Given the description of an element on the screen output the (x, y) to click on. 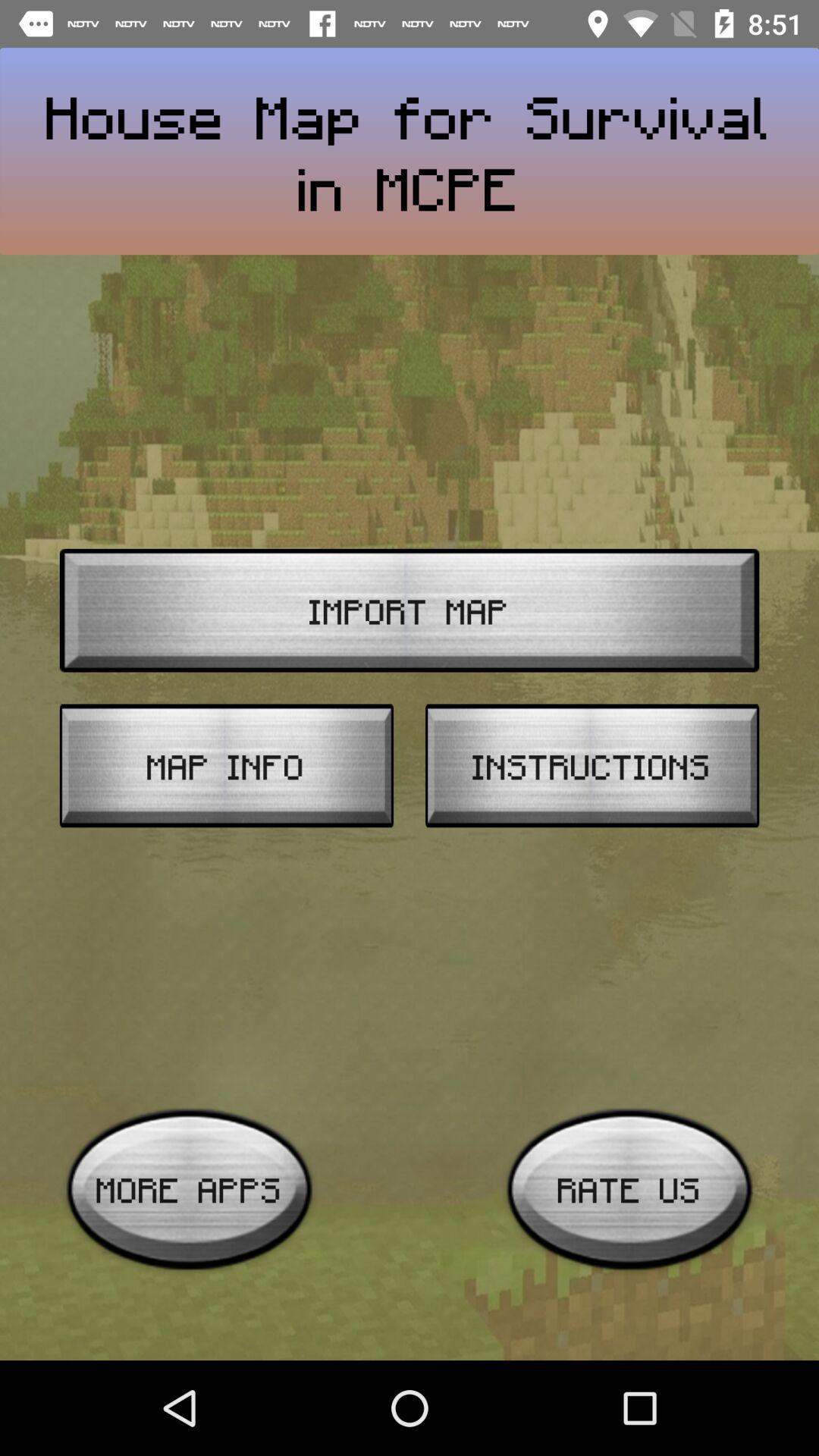
swipe until the import map item (409, 610)
